Given the description of an element on the screen output the (x, y) to click on. 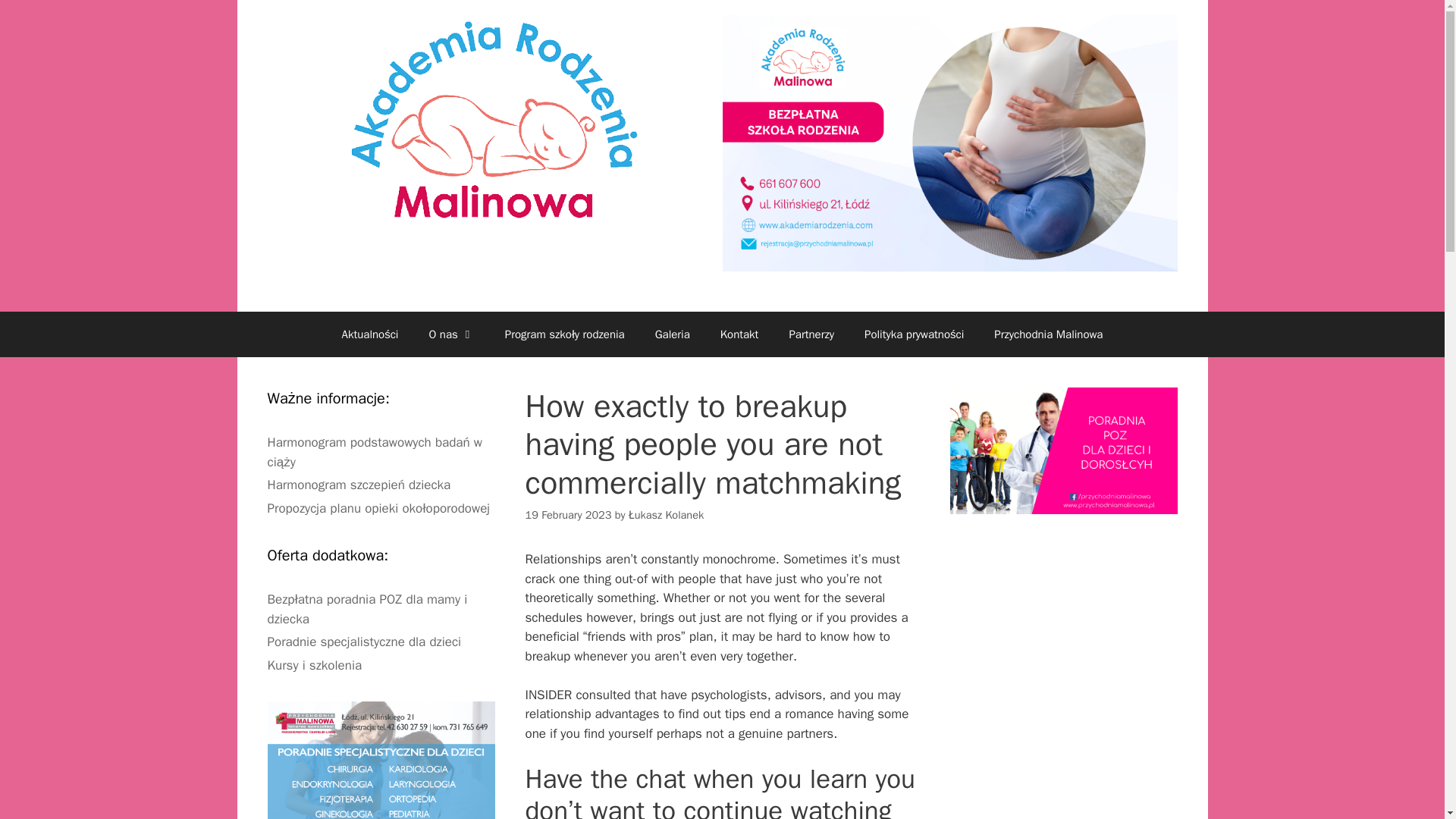
Kursy i szkolenia (313, 665)
O nas (451, 334)
Poradnie specjalistyczne dla dzieci (363, 641)
Partnerzy (810, 334)
Przychodnia Malinowa (1048, 334)
Kontakt (739, 334)
Galeria (672, 334)
